Given the description of an element on the screen output the (x, y) to click on. 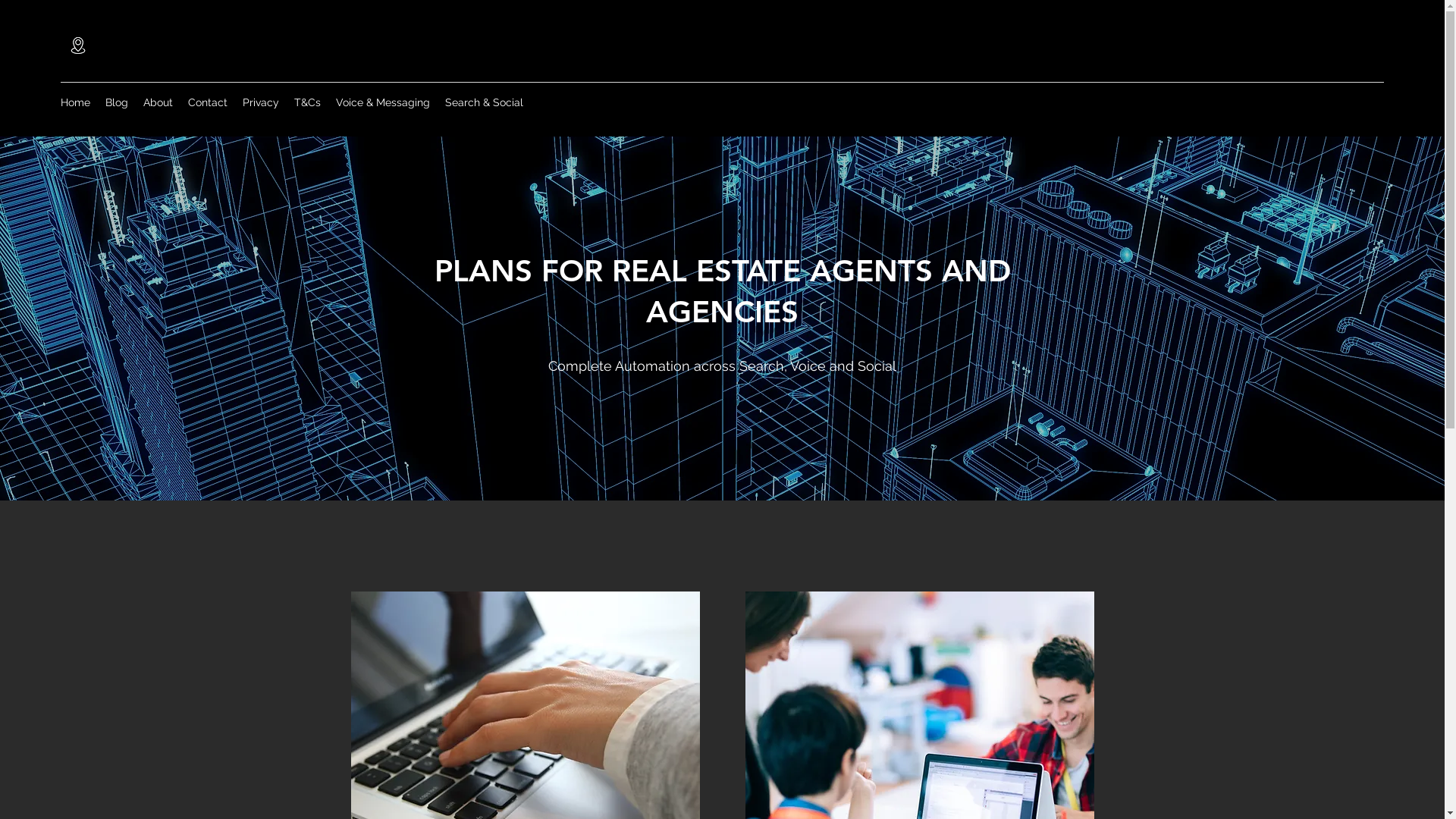
Contact Element type: text (207, 102)
Voice & Messaging Element type: text (382, 102)
T&Cs Element type: text (307, 102)
Search & Social Element type: text (483, 102)
Blog Element type: text (116, 102)
About Element type: text (157, 102)
Privacy Element type: text (260, 102)
Home Element type: text (75, 102)
